Given the description of an element on the screen output the (x, y) to click on. 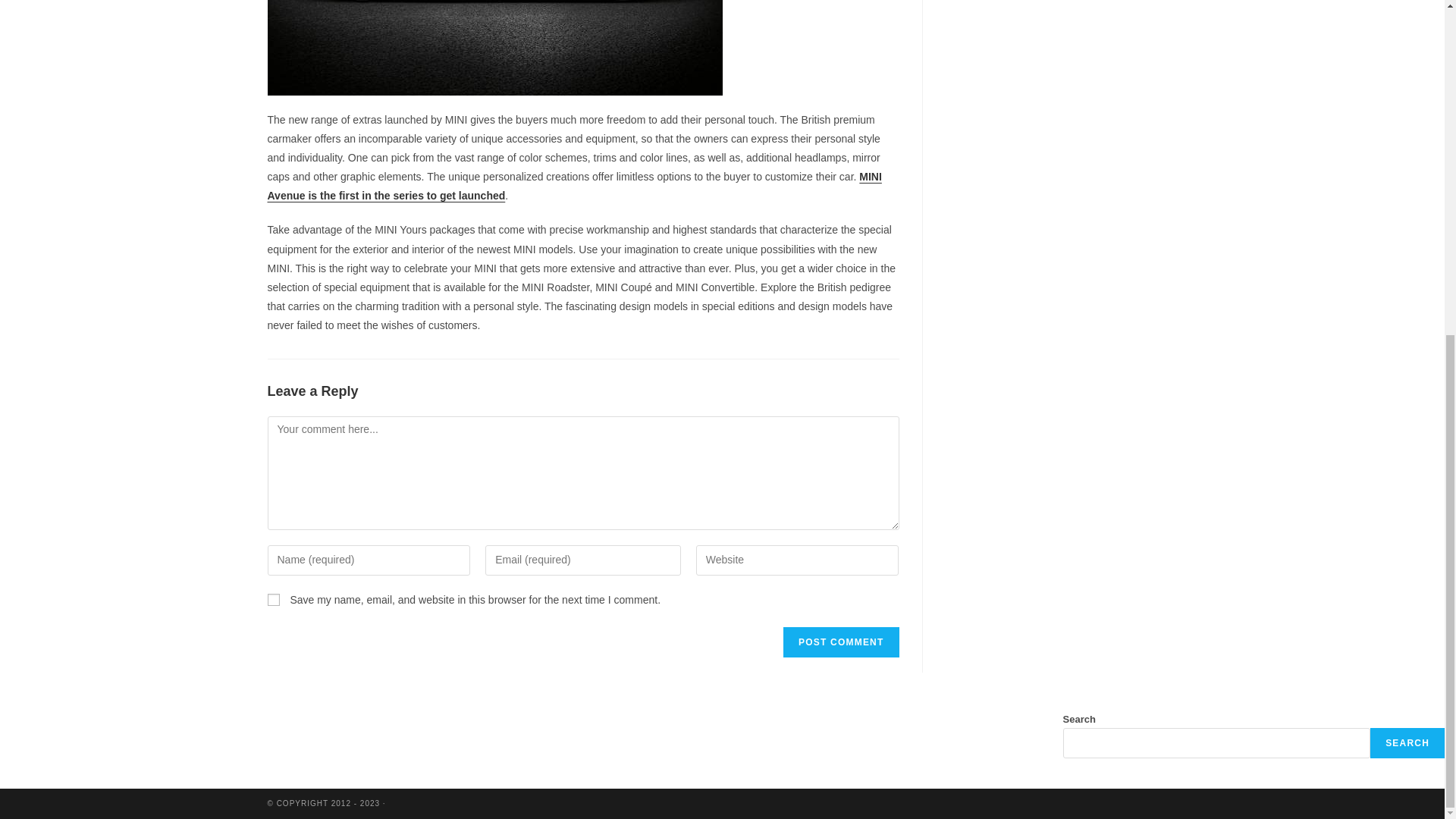
Post Comment (840, 642)
yes (272, 599)
MINI Avenue is the first in the series to get launched (573, 185)
Post Comment (840, 642)
Get More Personal with MINI and Make it Yours (494, 54)
MINI Avenue is the first in the series to get launched (573, 185)
